Given the description of an element on the screen output the (x, y) to click on. 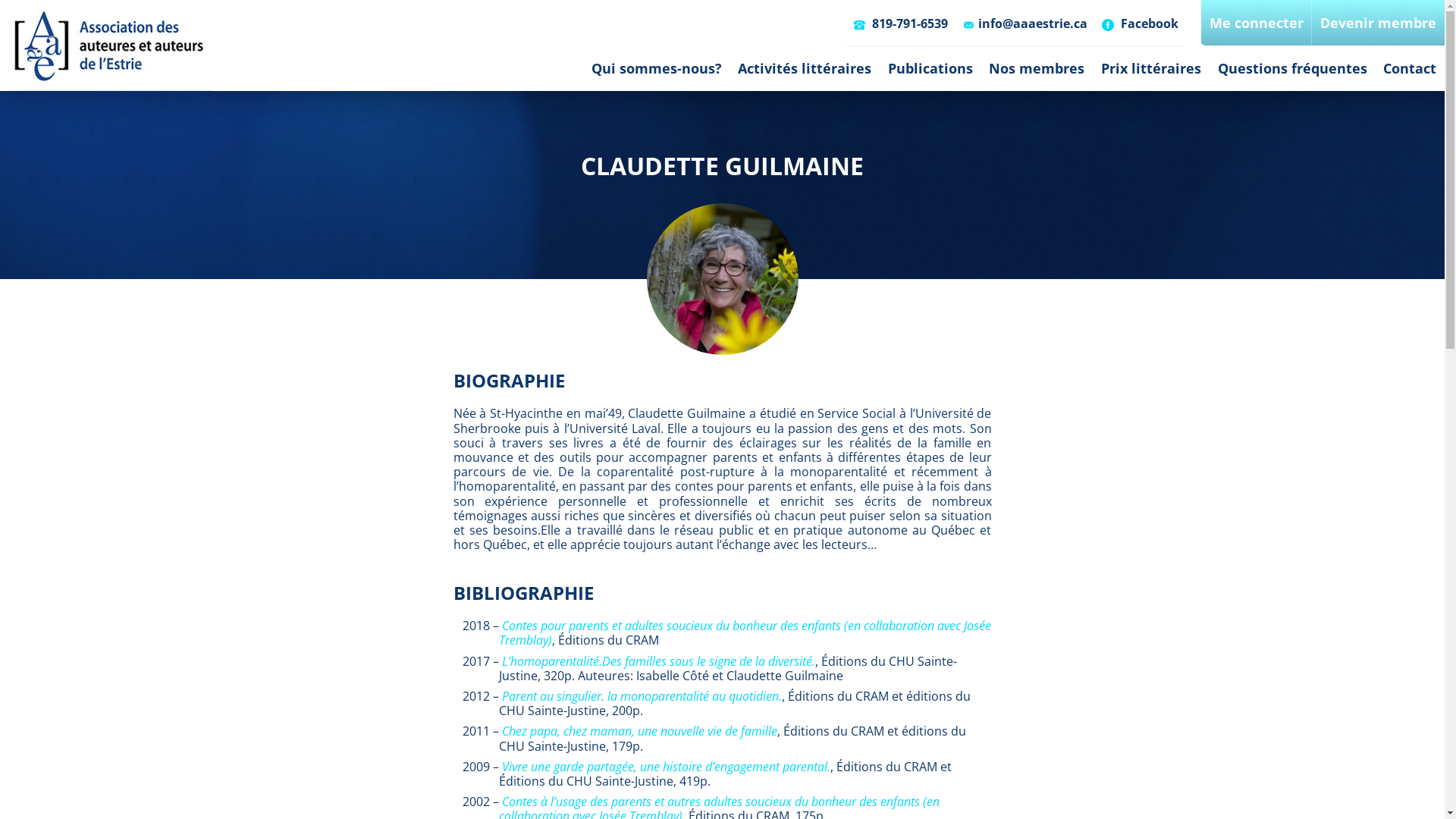
Publications Element type: text (930, 68)
Qui sommes-nous? Element type: text (656, 68)
Me connecter Element type: text (1256, 22)
Contact Element type: text (1409, 68)
info@aaaestrie.ca Element type: text (1024, 23)
Chez papa, chez maman, une nouvelle vie de famille Element type: text (639, 730)
Devenir membre Element type: text (1377, 22)
Nos membres Element type: text (1037, 68)
819-791-6539 Element type: text (899, 23)
Facebook Element type: text (1140, 23)
